Given the description of an element on the screen output the (x, y) to click on. 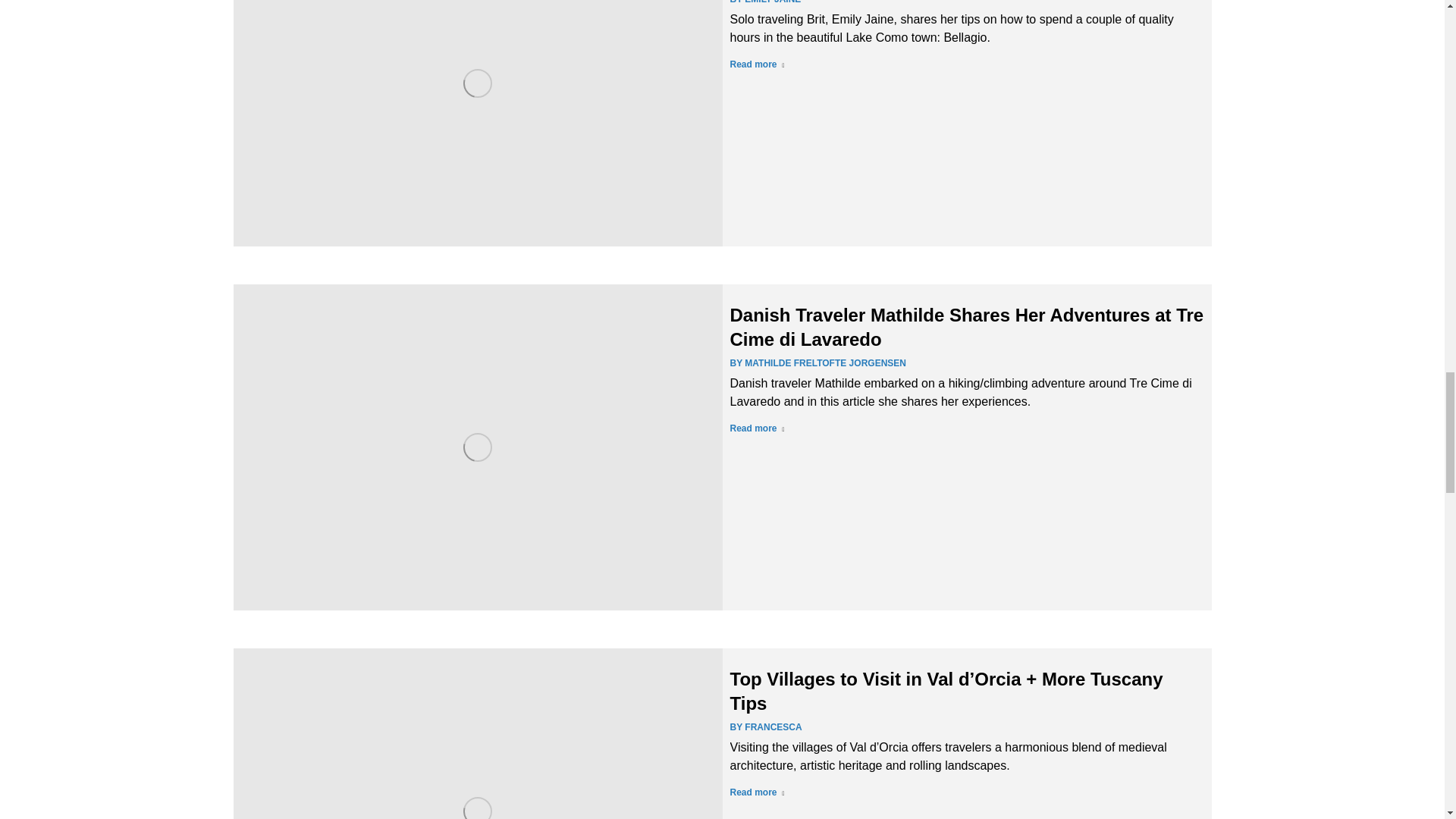
Read more (756, 795)
BY MATHILDE FRELTOFTE JORGENSEN (817, 363)
BY EMILY JAINE (764, 3)
Read more (756, 431)
BY FRANCESCA (765, 726)
Read more (756, 67)
